Given the description of an element on the screen output the (x, y) to click on. 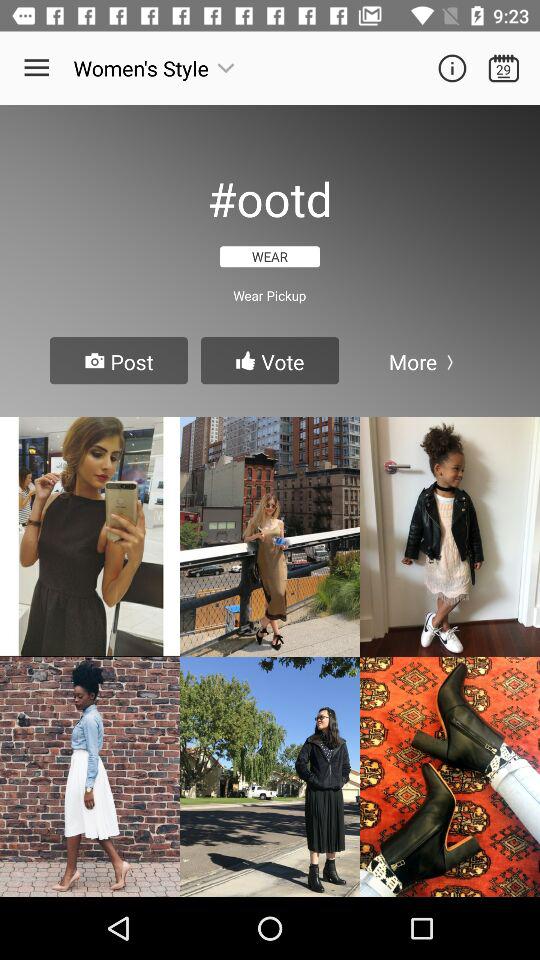
open calendar (503, 68)
